Given the description of an element on the screen output the (x, y) to click on. 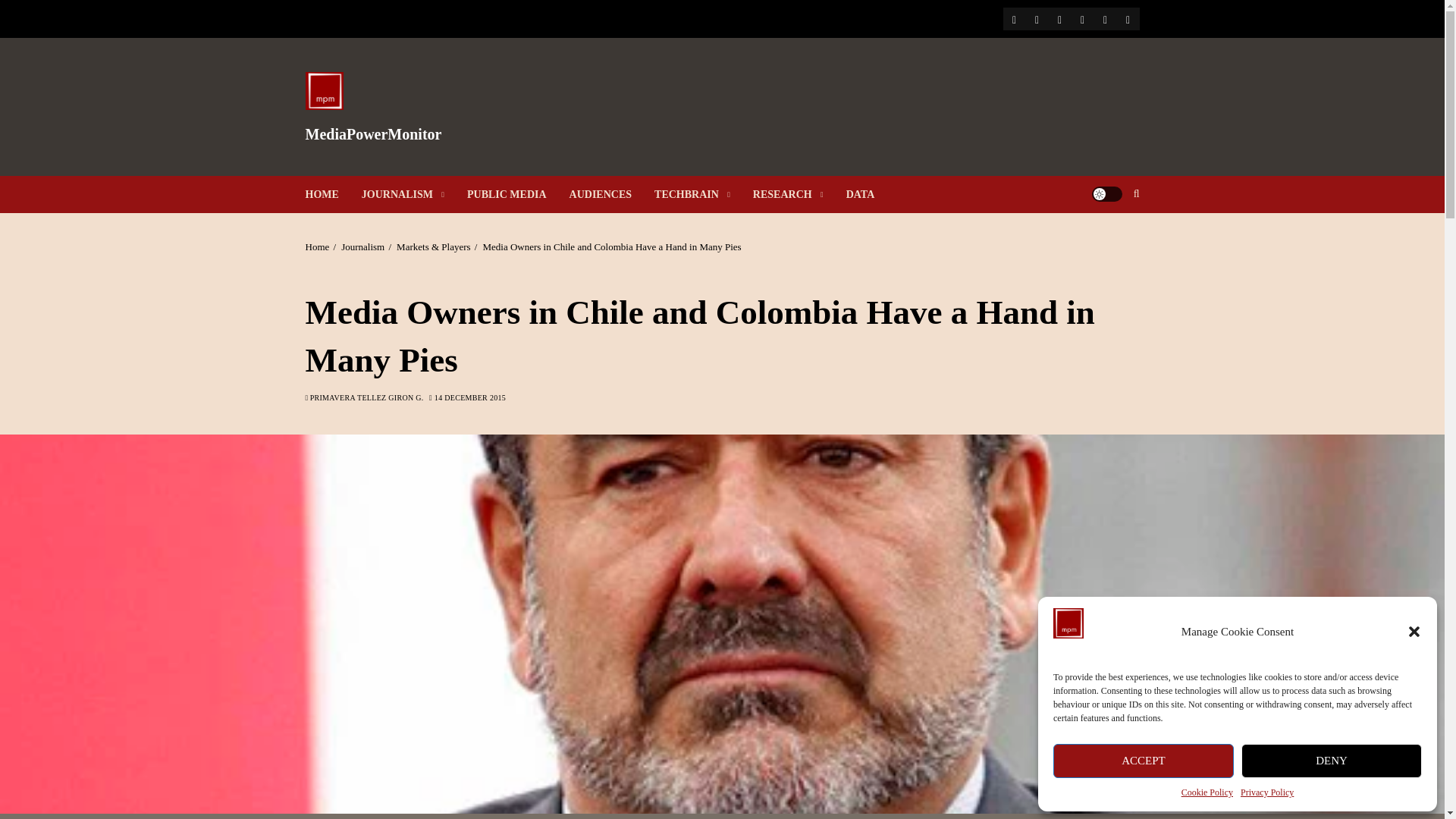
Privacy Policy (1104, 18)
AUDIENCES (611, 194)
JOURNALISM (414, 194)
DENY (1331, 760)
TECHBRAIN (702, 194)
Facebook (1014, 18)
RESEARCH (798, 194)
PUBLIC MEDIA (518, 194)
ACCEPT (1142, 760)
MediaPowerMonitor (372, 134)
Instagram (1059, 18)
Privacy Policy (1267, 792)
Cookie Policy (1206, 792)
Twitter (1036, 18)
Linkedin (1081, 18)
